Given the description of an element on the screen output the (x, y) to click on. 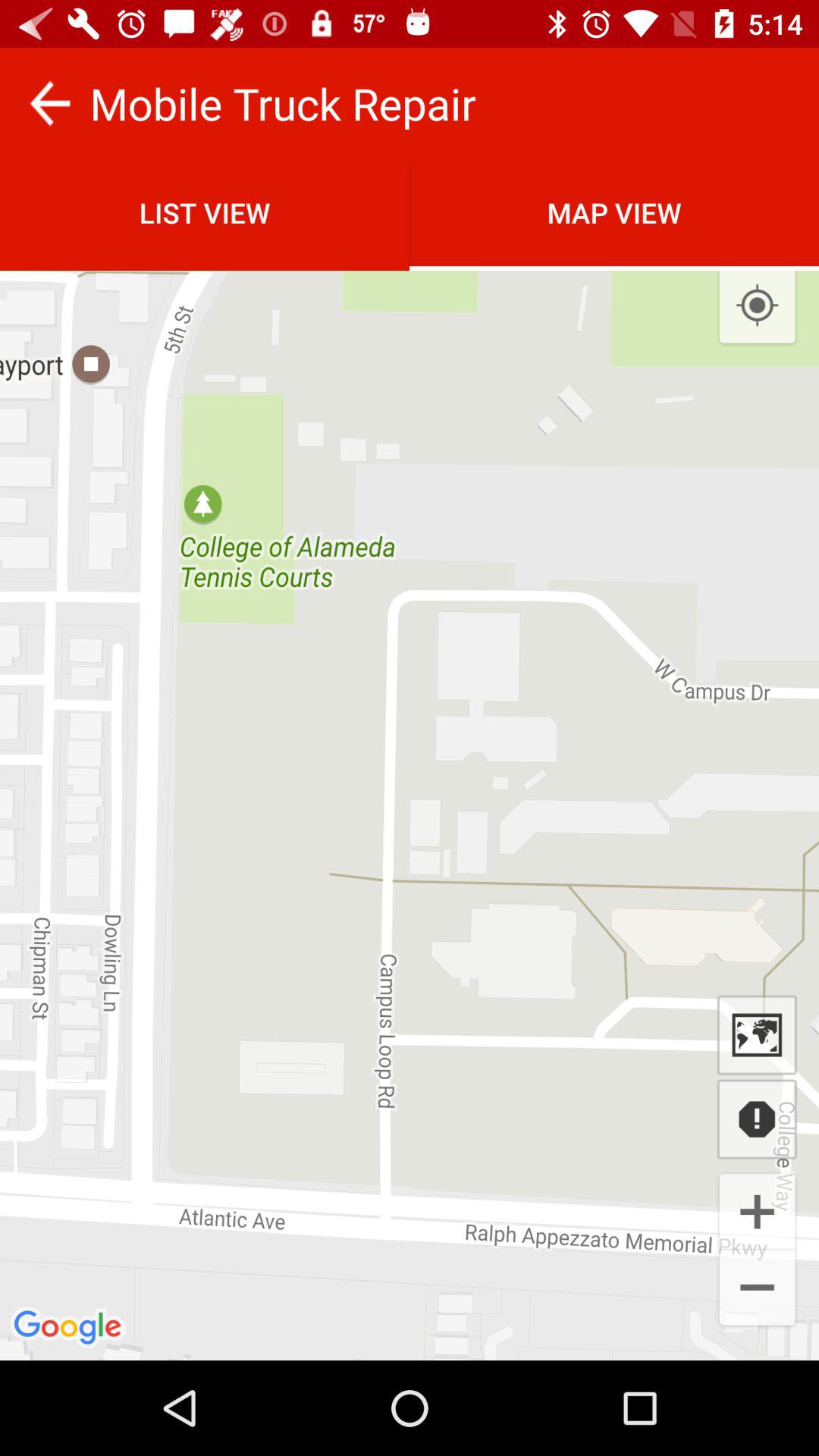
go back (49, 103)
